Given the description of an element on the screen output the (x, y) to click on. 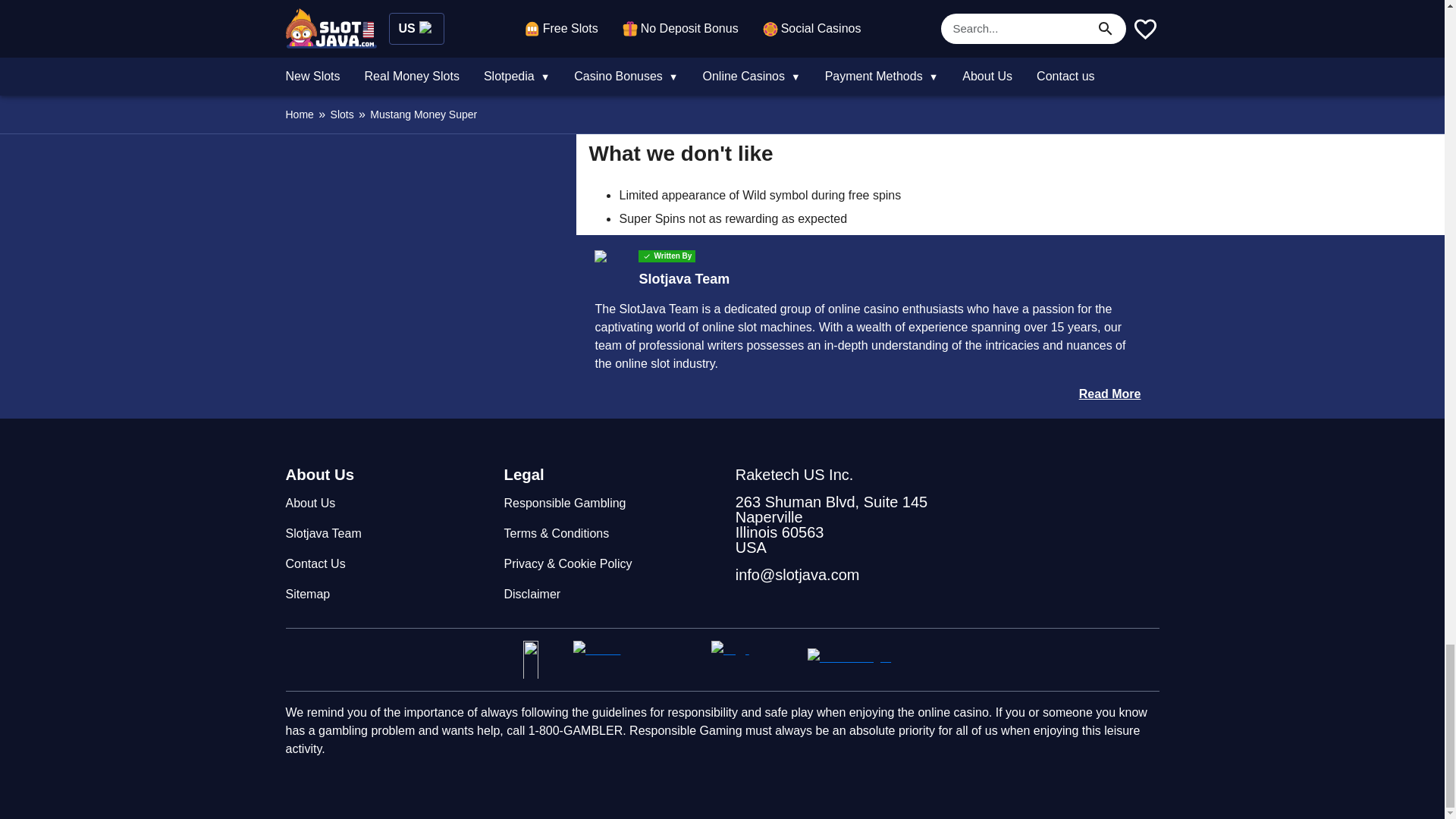
Slotjava partner (635, 659)
Slotjava partner (864, 659)
Slotjava partner (541, 659)
Slotjava partner (752, 659)
